Given the description of an element on the screen output the (x, y) to click on. 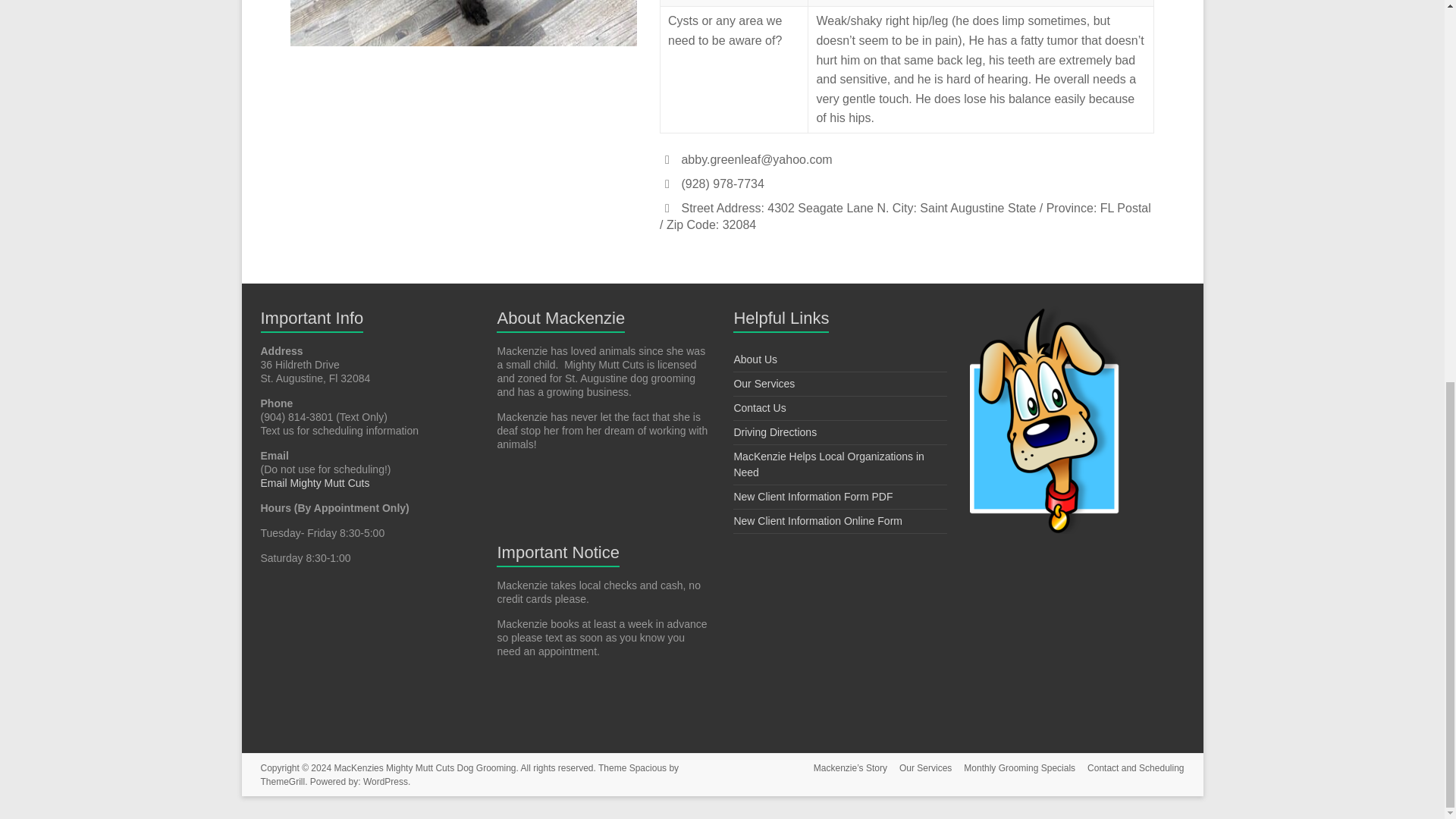
WordPress (384, 781)
MacKenzies Mighty Mutt Cuts Dog Grooming (424, 767)
Contact and Scheduling (1129, 769)
New Client Information Online Form (817, 521)
Our Services (763, 383)
Monthly Grooming Specials (1013, 769)
Driving Directions (774, 431)
Spacious (647, 767)
Email Mighty Mutt Cuts  (316, 482)
MacKenzie Helps Local Organizations in Need (828, 464)
Spacious (647, 767)
Contact Us (759, 408)
MacKenzies Mighty Mutt Cuts Dog Grooming (424, 767)
About Us (755, 358)
New Client Information Form PDF (812, 496)
